Given the description of an element on the screen output the (x, y) to click on. 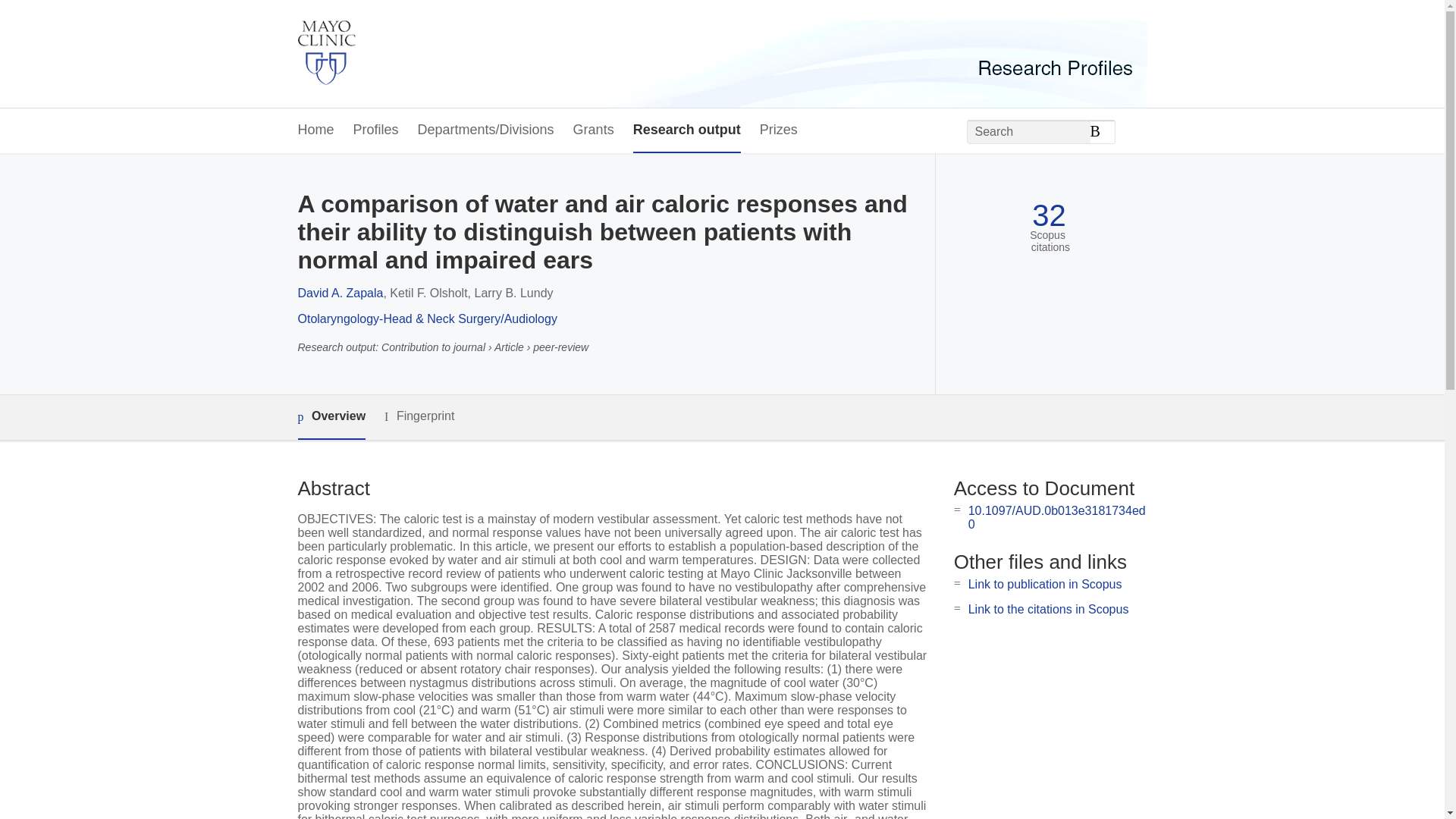
Fingerprint (419, 416)
Link to publication in Scopus (1045, 584)
32 (1048, 215)
Research output (687, 130)
Grants (593, 130)
David A. Zapala (339, 292)
Link to the citations in Scopus (1048, 608)
Overview (331, 416)
Profiles (375, 130)
